Given the description of an element on the screen output the (x, y) to click on. 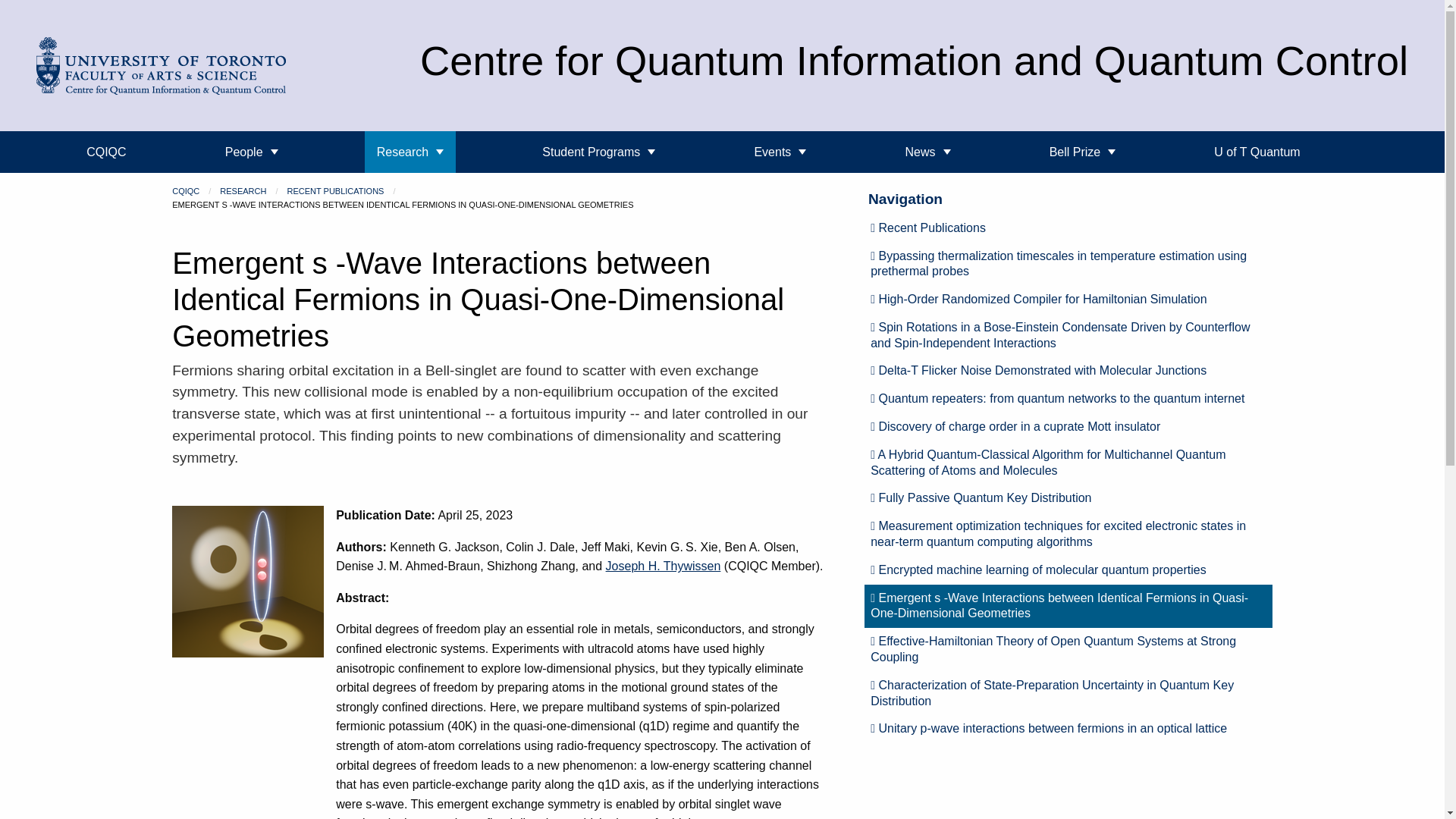
Events (779, 151)
CQIQC (106, 151)
Bell Prize (1082, 151)
Research (410, 151)
Student Programs (597, 151)
People (250, 151)
News (927, 151)
